Given the description of an element on the screen output the (x, y) to click on. 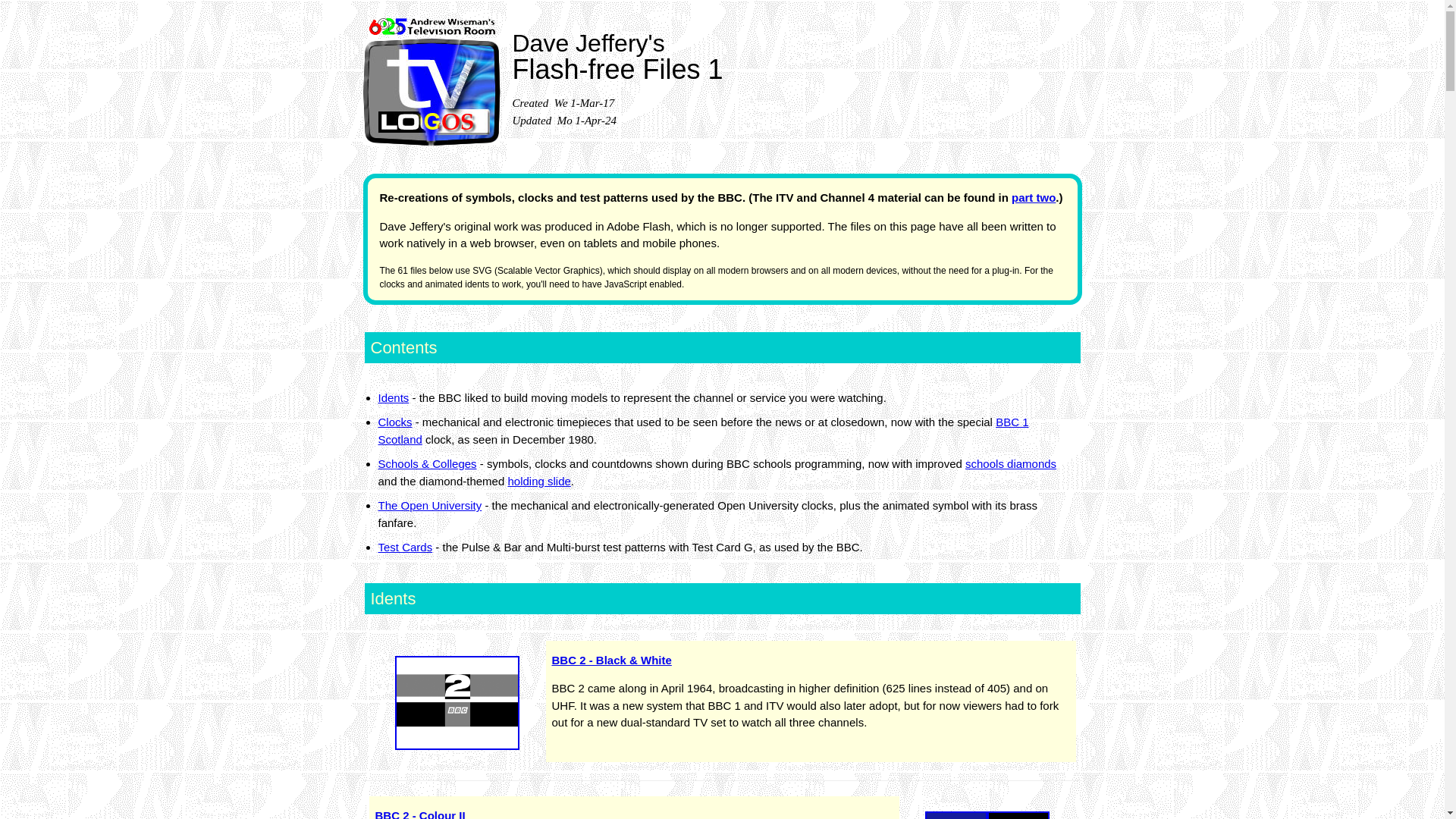
BBC 1 Scotland (702, 430)
Test Cards (404, 546)
BBC 2 COLOUR - rotating cube ident - blue (987, 816)
Idents (393, 397)
schools diamonds (1011, 463)
Clocks (394, 421)
holding slide (538, 481)
part two (1033, 196)
BBC 2 - Colour II (419, 814)
The Open University (429, 504)
BBC 2's first ident from 1964 (456, 703)
